Given the description of an element on the screen output the (x, y) to click on. 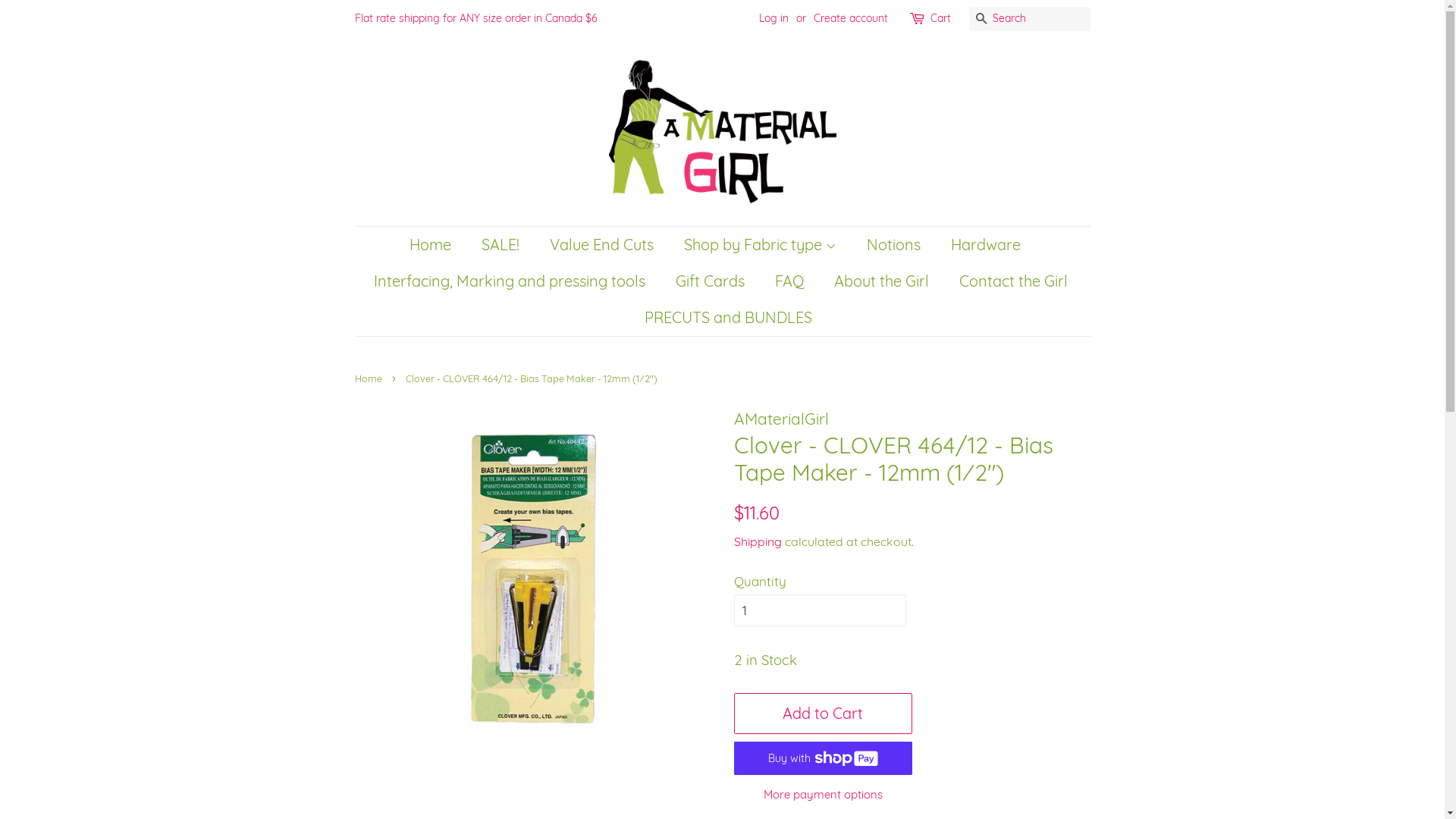
FAQ Element type: text (790, 281)
Shop by Fabric type Element type: text (760, 244)
Shipping Element type: text (757, 541)
Notions Element type: text (895, 244)
Log in Element type: text (772, 18)
Cart Element type: text (939, 18)
Home Element type: text (369, 378)
About the Girl Element type: text (882, 281)
Gift Cards Element type: text (711, 281)
Add to Cart Element type: text (823, 713)
Home Element type: text (437, 244)
PRECUTS and BUNDLES Element type: text (721, 317)
Contact the Girl Element type: text (1014, 281)
More payment options Element type: text (823, 793)
Value End Cuts Element type: text (603, 244)
Interfacing, Marking and pressing tools Element type: text (511, 281)
Search Element type: text (981, 18)
Hardware Element type: text (986, 244)
SALE! Element type: text (502, 244)
Create account Element type: text (849, 18)
